Given the description of an element on the screen output the (x, y) to click on. 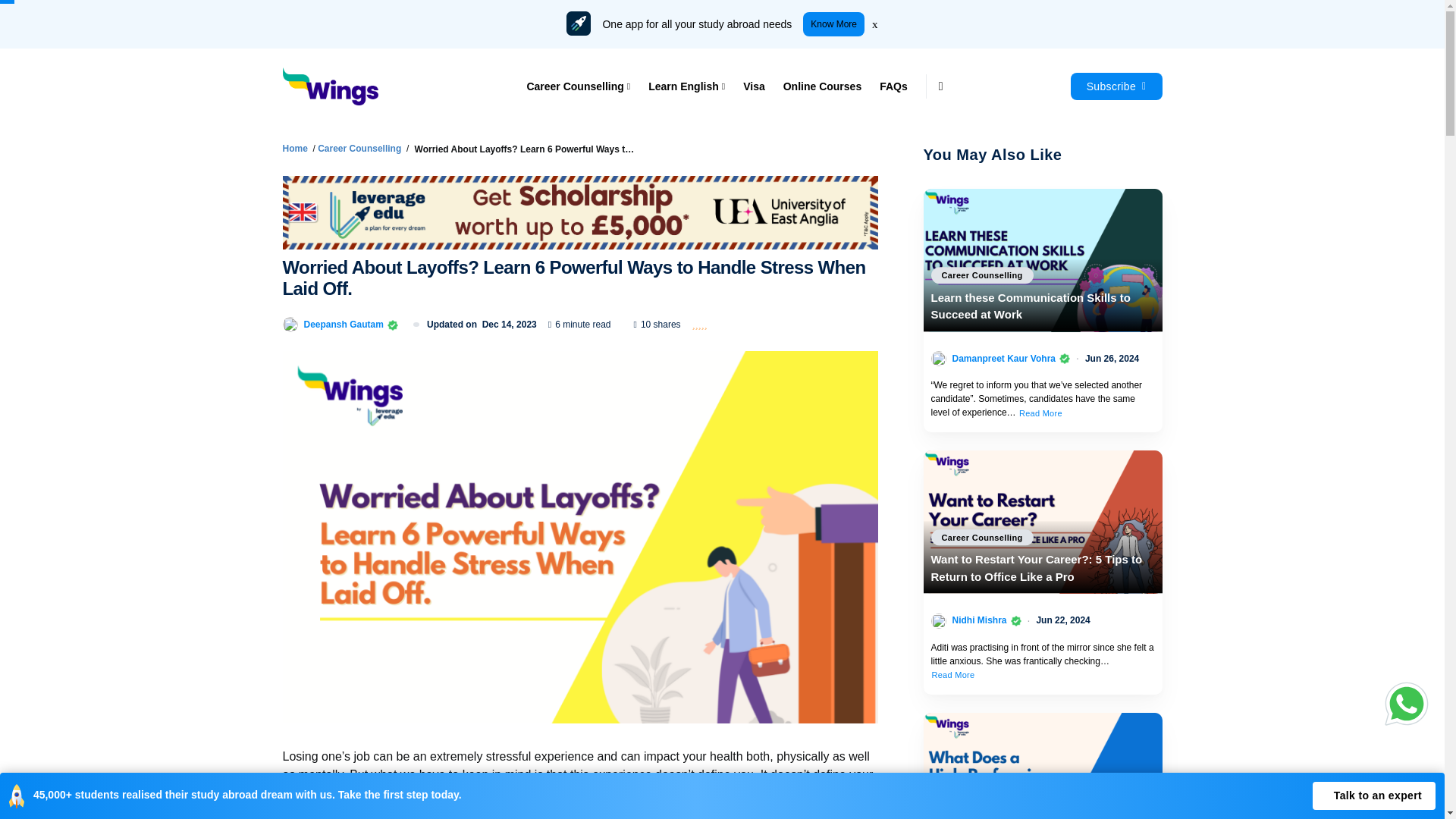
Career Counselling (582, 85)
Learn English (686, 85)
Know More (833, 24)
View all posts by Deepansh Gautam (342, 324)
